Given the description of an element on the screen output the (x, y) to click on. 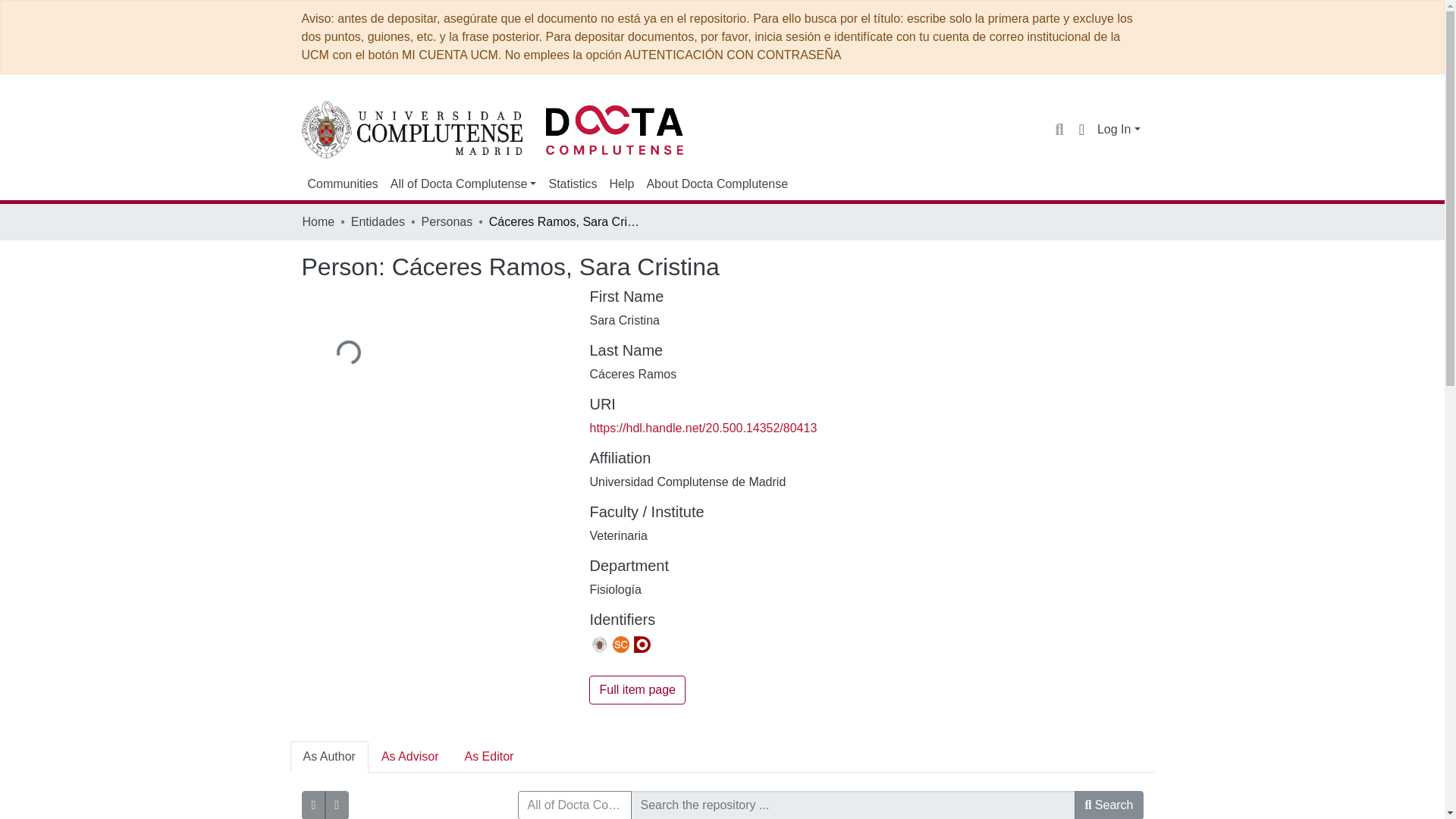
Search (1058, 129)
Communities (342, 183)
UCM identifier (599, 644)
As Editor (488, 757)
Personas (447, 221)
About Docta Complutense (716, 183)
Statistics (571, 183)
About Docta Complutense (716, 183)
As Author (328, 757)
Dialnet ID (641, 644)
Scopus Author ID (620, 644)
Log In (1118, 128)
All of Docta Complutense (463, 183)
Help (621, 183)
Communities (342, 183)
